Given the description of an element on the screen output the (x, y) to click on. 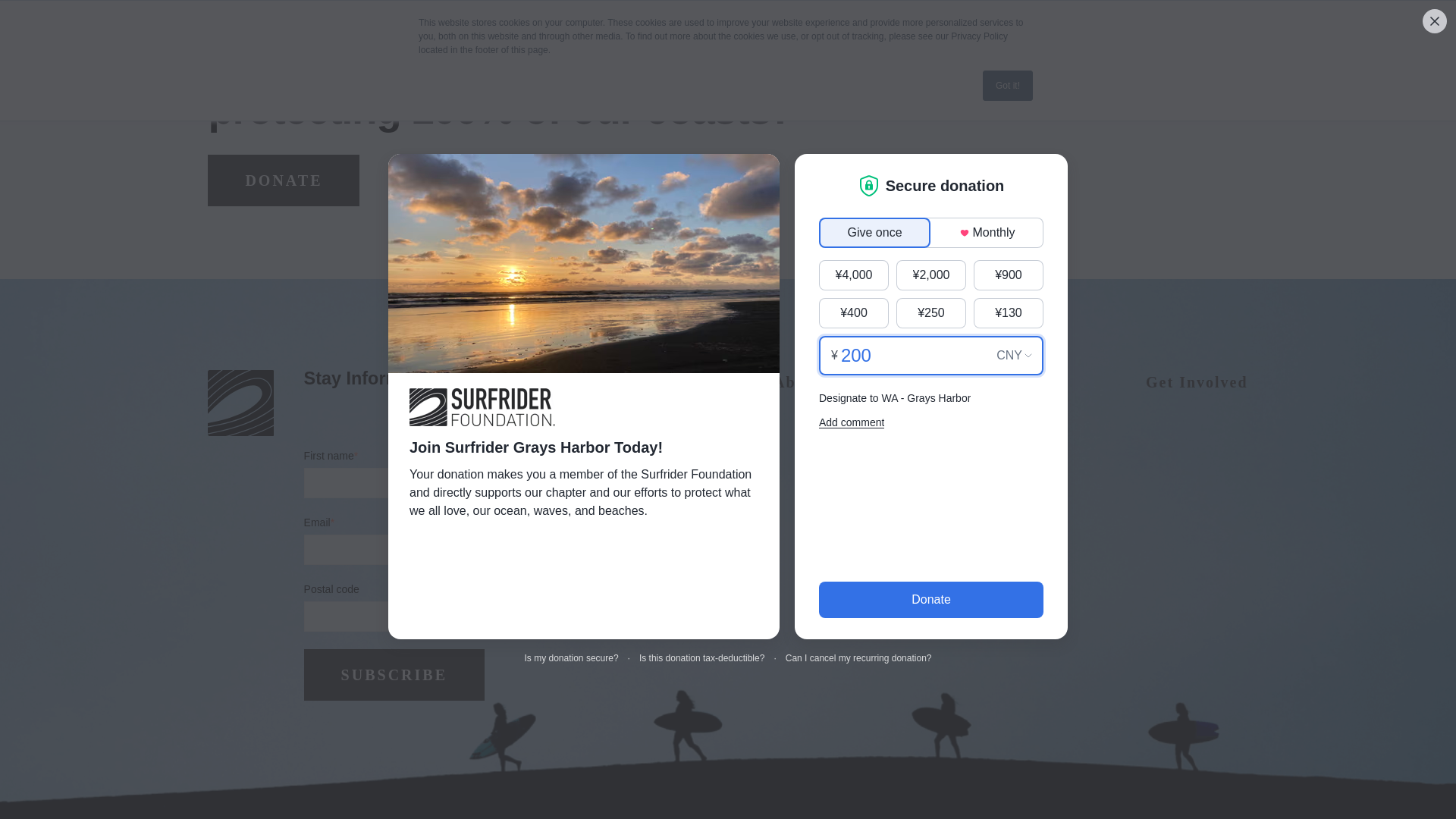
Subscribe (394, 675)
